Given the description of an element on the screen output the (x, y) to click on. 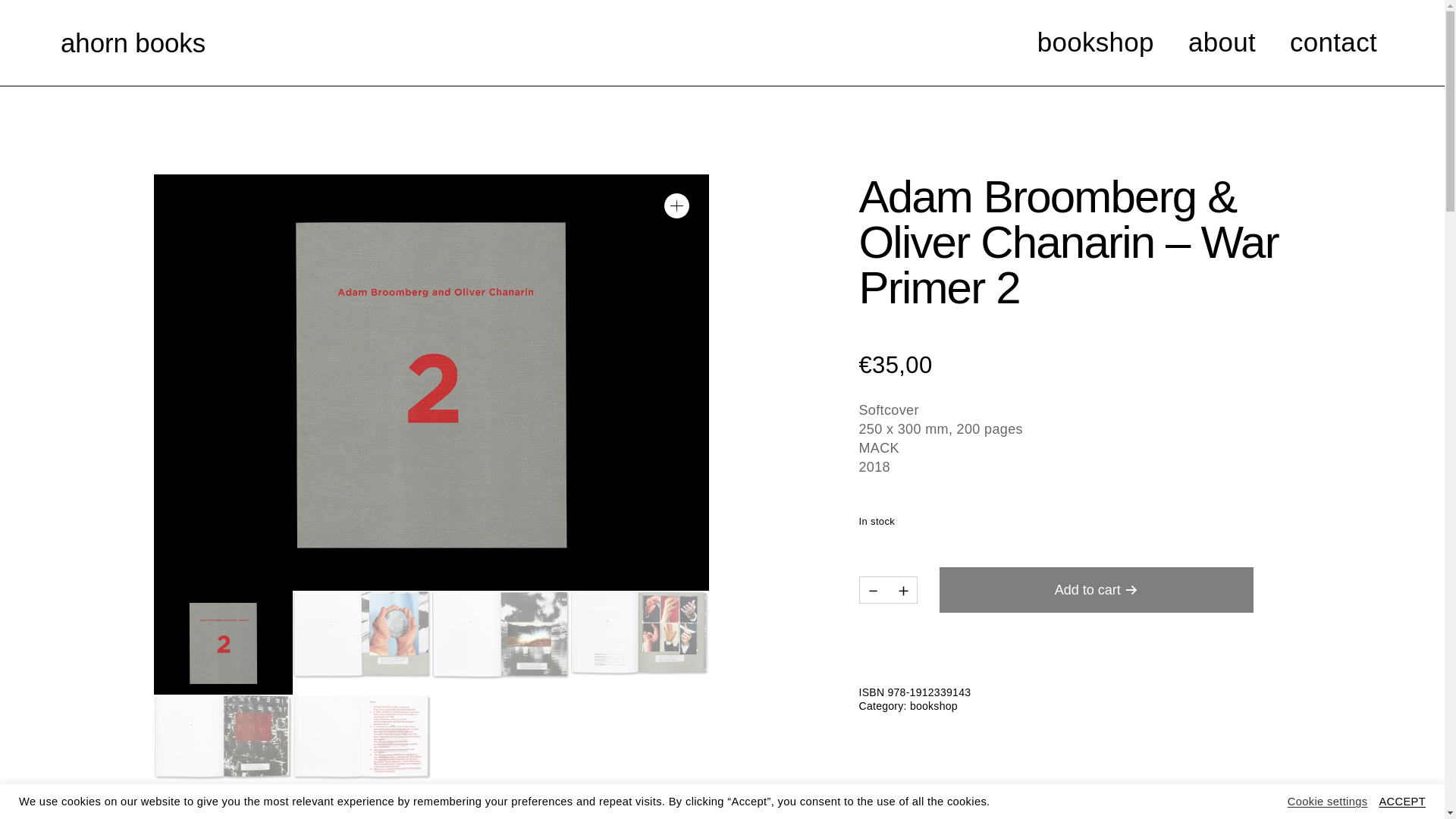
contact (1333, 42)
about (1221, 42)
ahorn books (133, 42)
ahorn books (133, 42)
bookshop (1095, 42)
Add to cart (1096, 589)
bookshop (1210, 42)
